Given the description of an element on the screen output the (x, y) to click on. 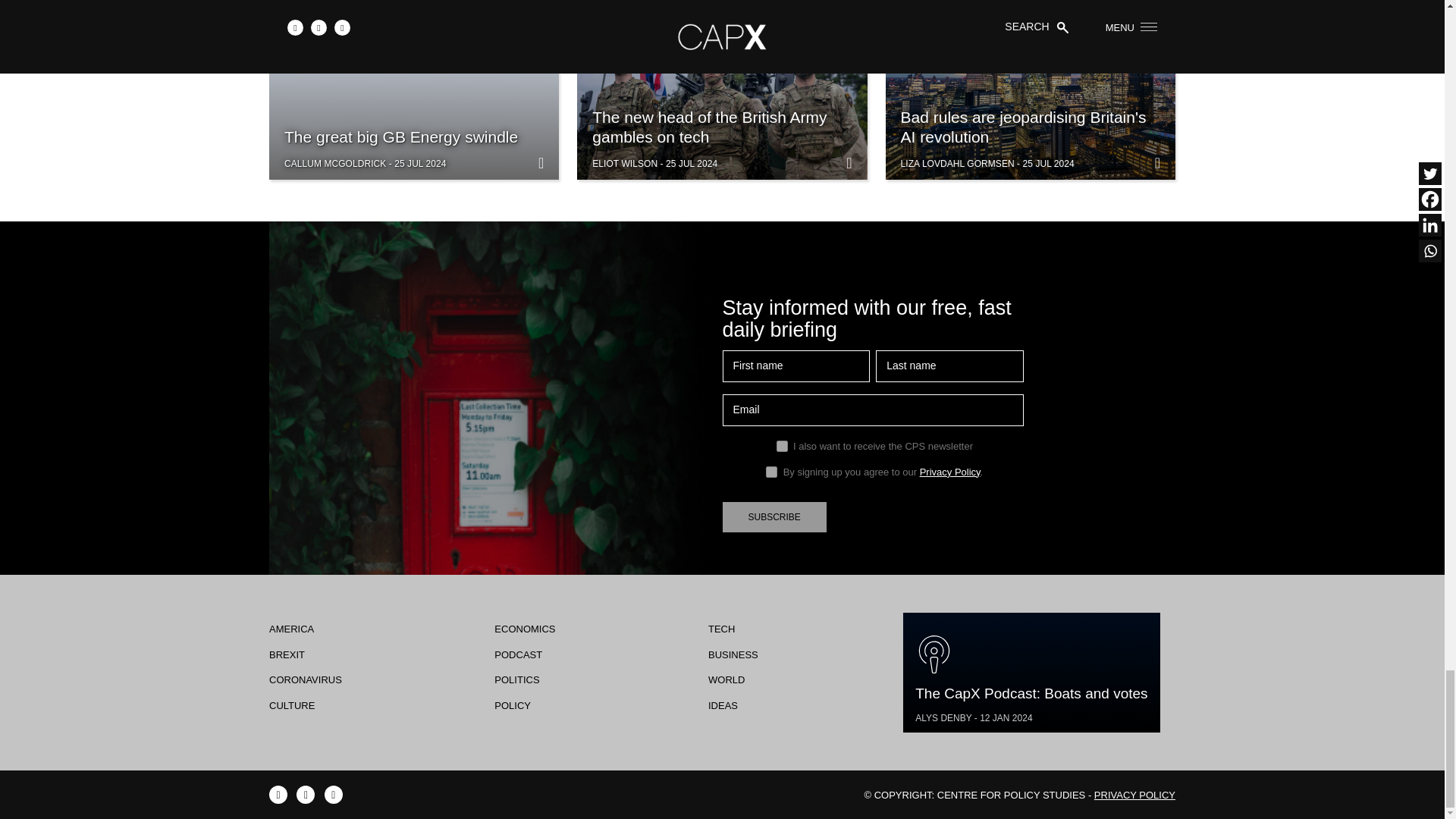
I also want to receive the CPS newsletter (781, 446)
Subscribe (773, 517)
